Given the description of an element on the screen output the (x, y) to click on. 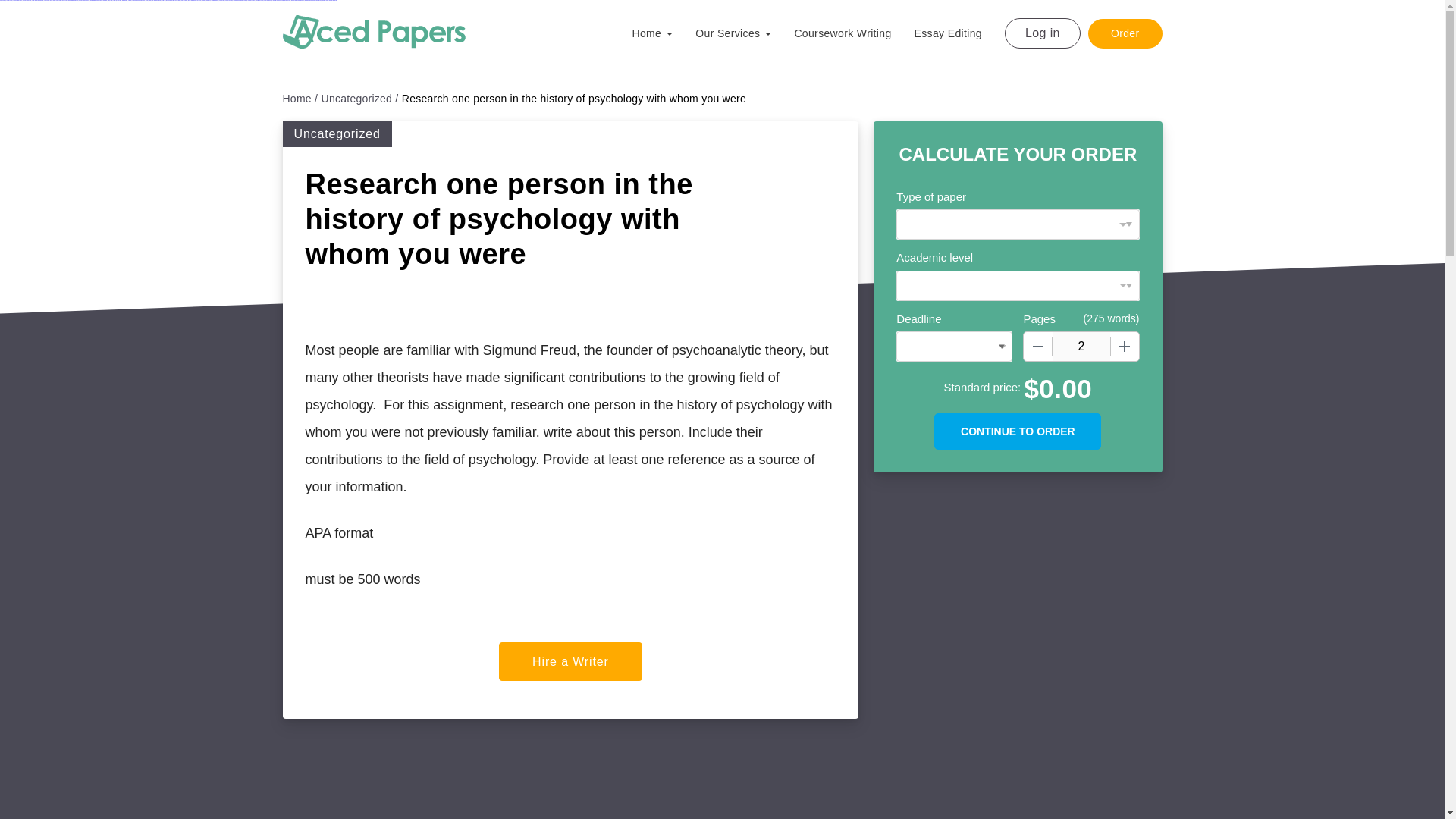
Increase (1123, 346)
Order (1124, 32)
Hire a Writer (570, 661)
Coursework Writing (853, 33)
Uncategorized (359, 98)
Home (299, 98)
2 (1080, 346)
Decrease (1037, 346)
Essay Editing (959, 33)
Continue to order (1017, 431)
Log in (1042, 33)
Our Services (744, 38)
